Given the description of an element on the screen output the (x, y) to click on. 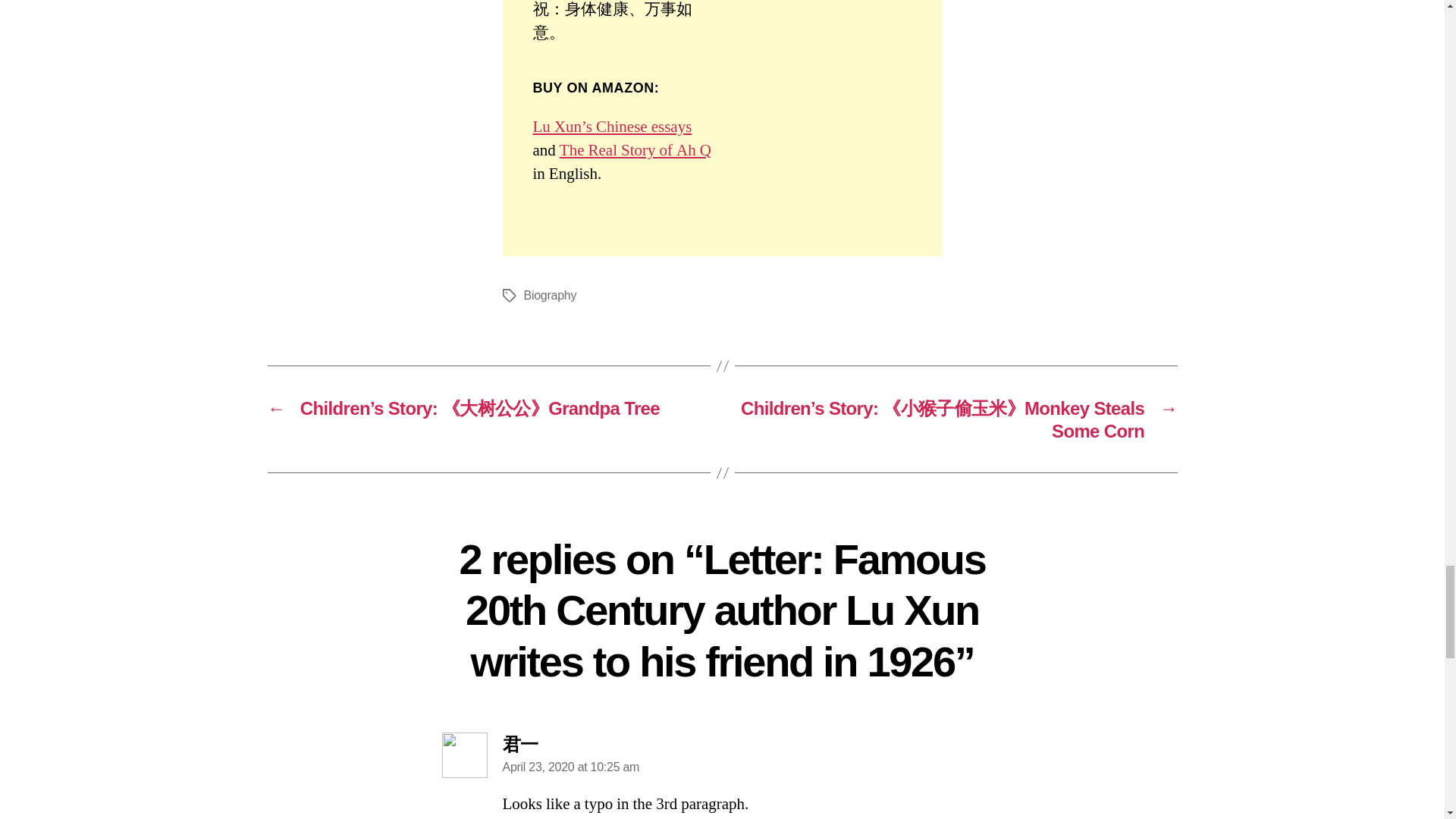
April 23, 2020 at 10:25 am (570, 766)
